Given the description of an element on the screen output the (x, y) to click on. 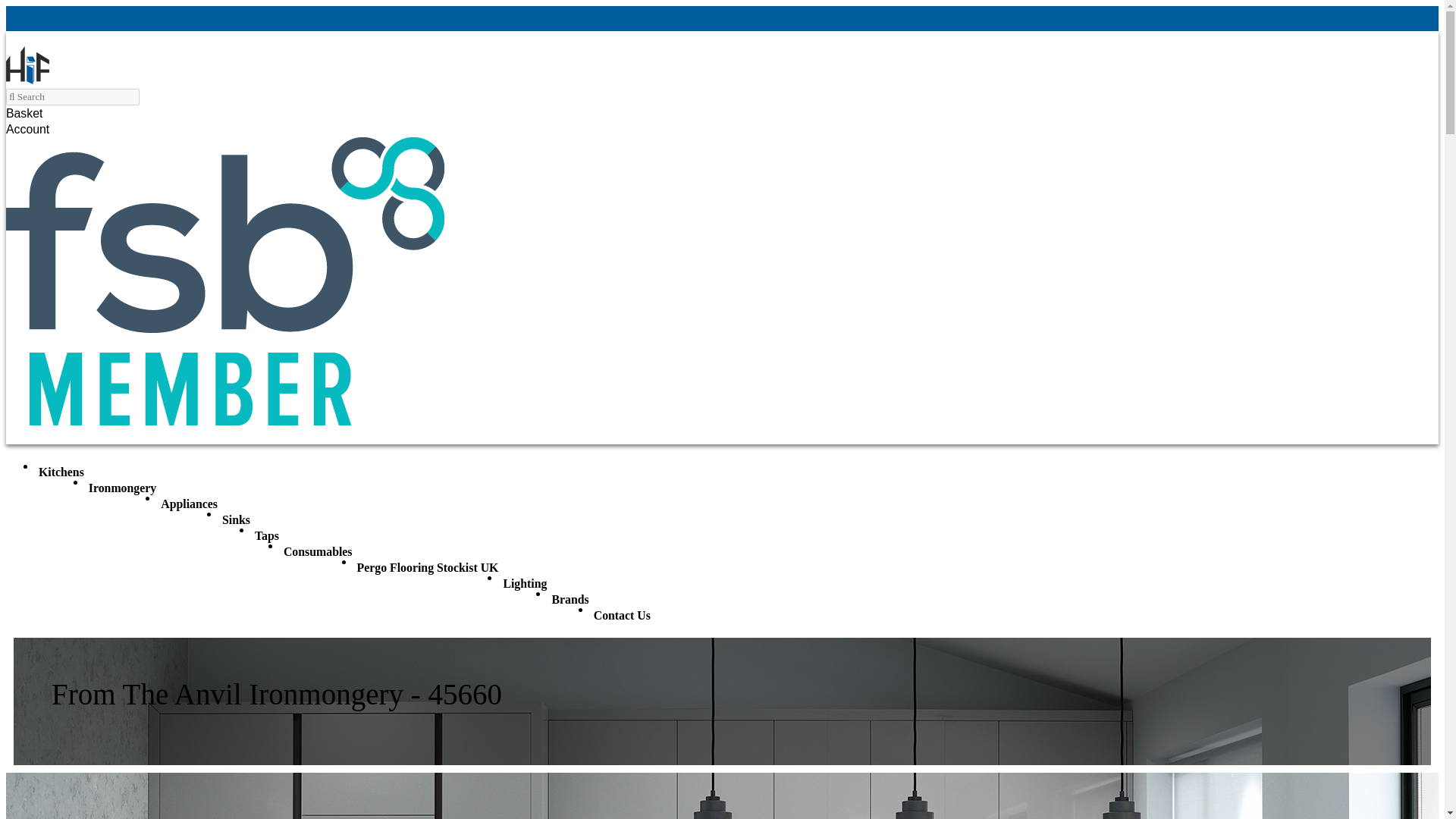
Account (34, 128)
Tel: 01334 753003 (70, 18)
Basket (31, 113)
Taps (266, 535)
Appliances (188, 503)
Kitchens (60, 471)
Sinks (235, 520)
Go To Homepage (27, 79)
Ironmongery (121, 488)
